Given the description of an element on the screen output the (x, y) to click on. 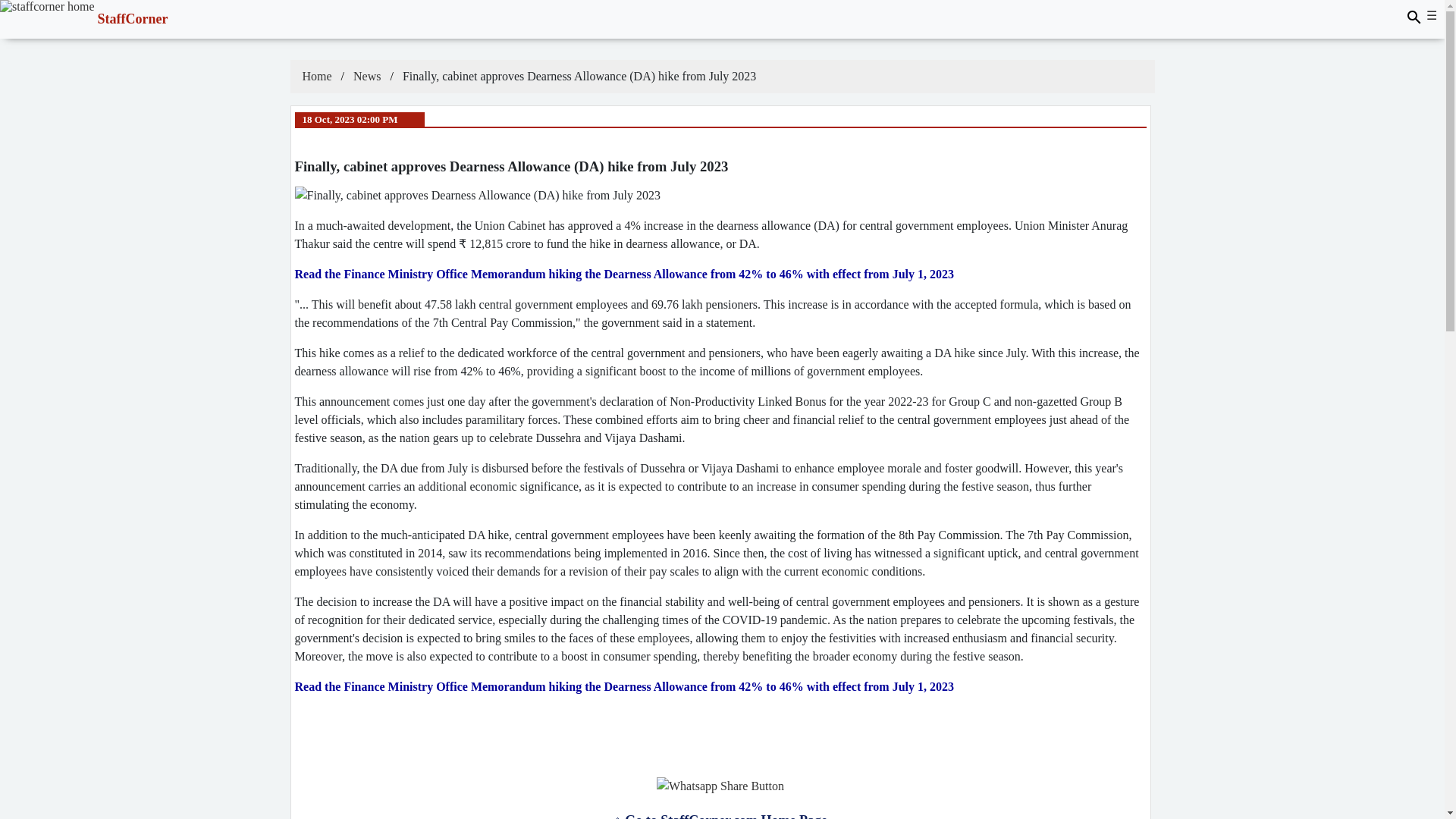
News (366, 75)
StaffCorner (84, 6)
Home (316, 75)
